Given the description of an element on the screen output the (x, y) to click on. 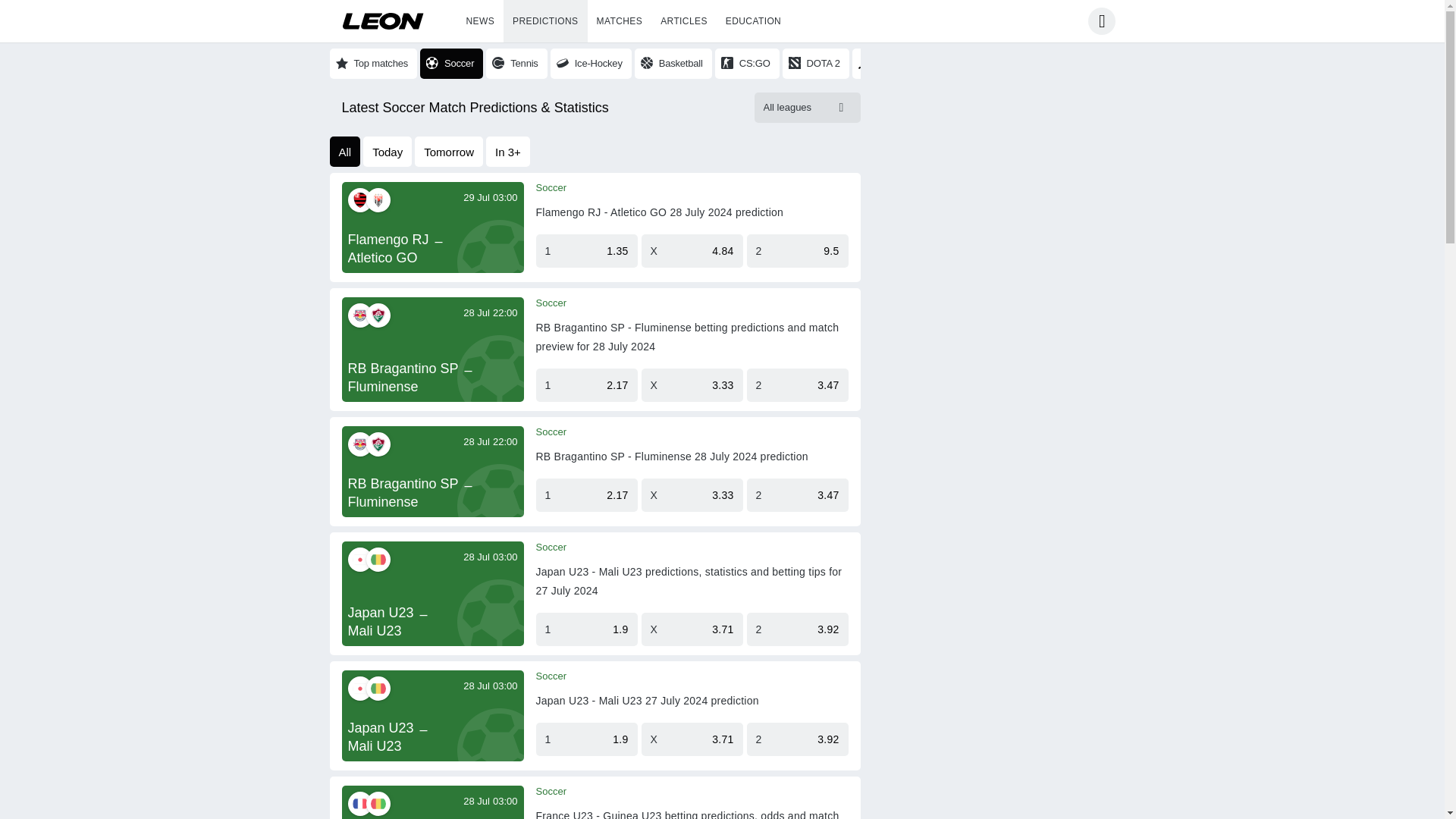
DOTA 2 (815, 63)
Tennis (516, 63)
Japan U23 - Mali U23 27 July 2024 prediction (646, 700)
Top matches (372, 63)
Soccer (550, 791)
Soccer (550, 431)
ARTICLES (683, 21)
Soccer (451, 63)
NEWS (480, 21)
Flamengo RJ - Atletico GO 28 July 2024 prediction (659, 212)
RB Bragantino SP - Fluminense 28 July 2024 prediction (671, 456)
PREDICTIONS (544, 21)
Soccer (550, 676)
Soccer (550, 187)
